Given the description of an element on the screen output the (x, y) to click on. 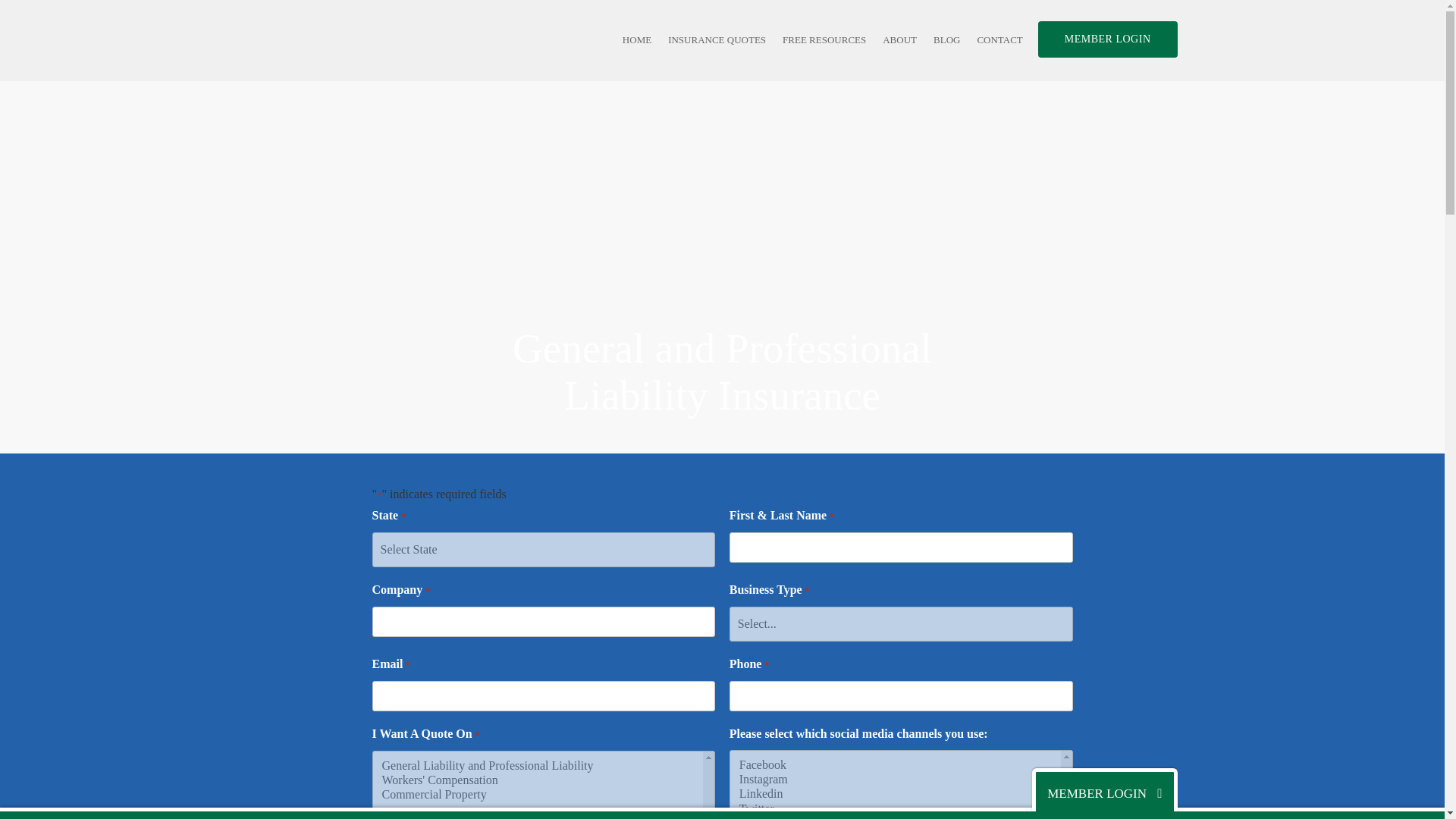
INSURANCE QUOTES (716, 39)
MEMBER LOGIN (1107, 39)
BLOG (946, 39)
ABOUT (899, 39)
CONTACT (999, 39)
HOME (636, 39)
FREE RESOURCES (721, 371)
